Given the description of an element on the screen output the (x, y) to click on. 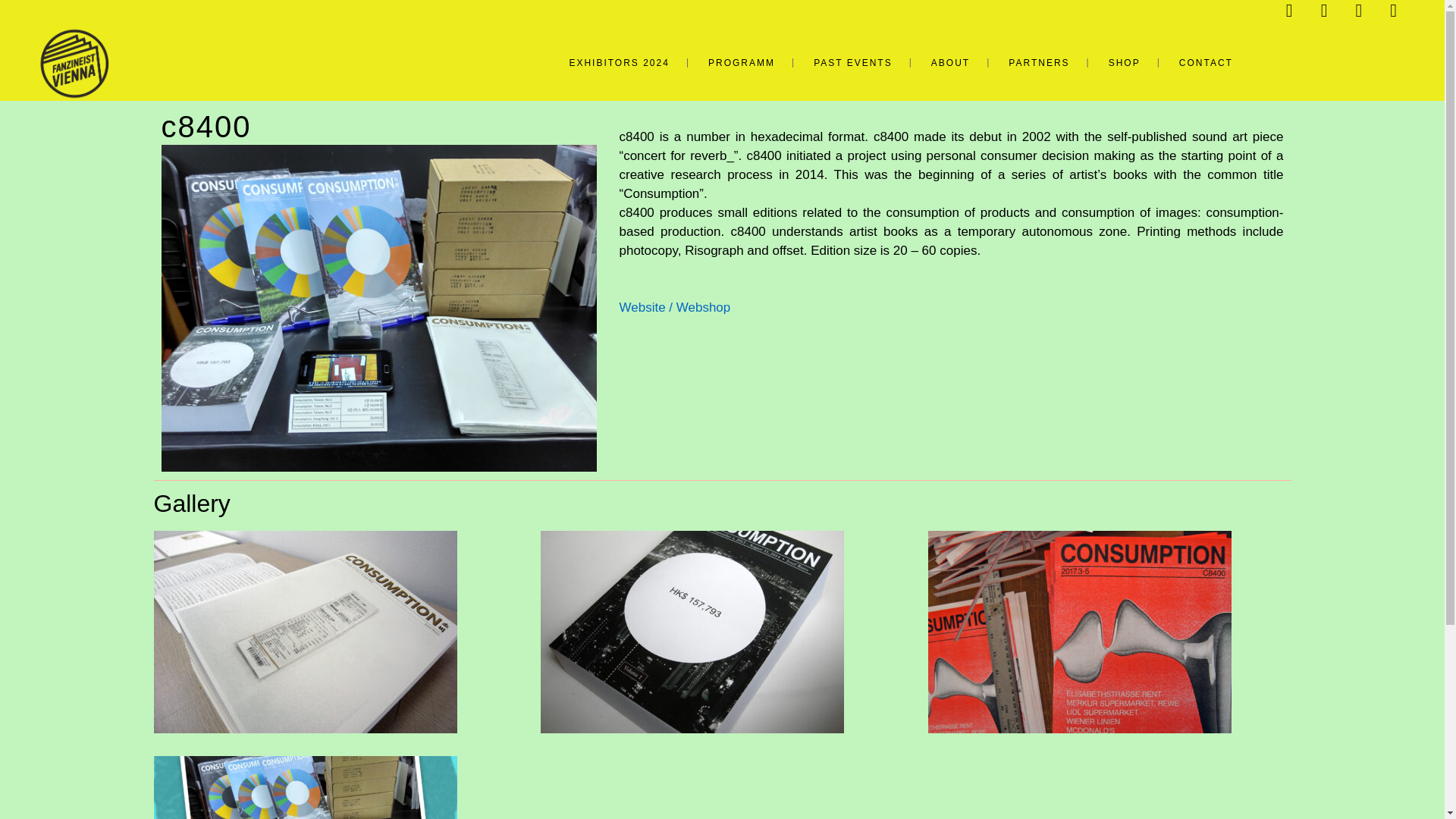
PARTNERS (1038, 62)
CONTACT (1205, 62)
SHOP (1124, 62)
PAST EVENTS (852, 62)
EXHIBITORS 2024 (618, 62)
ABOUT (950, 62)
PROGRAMM (741, 62)
